Given the description of an element on the screen output the (x, y) to click on. 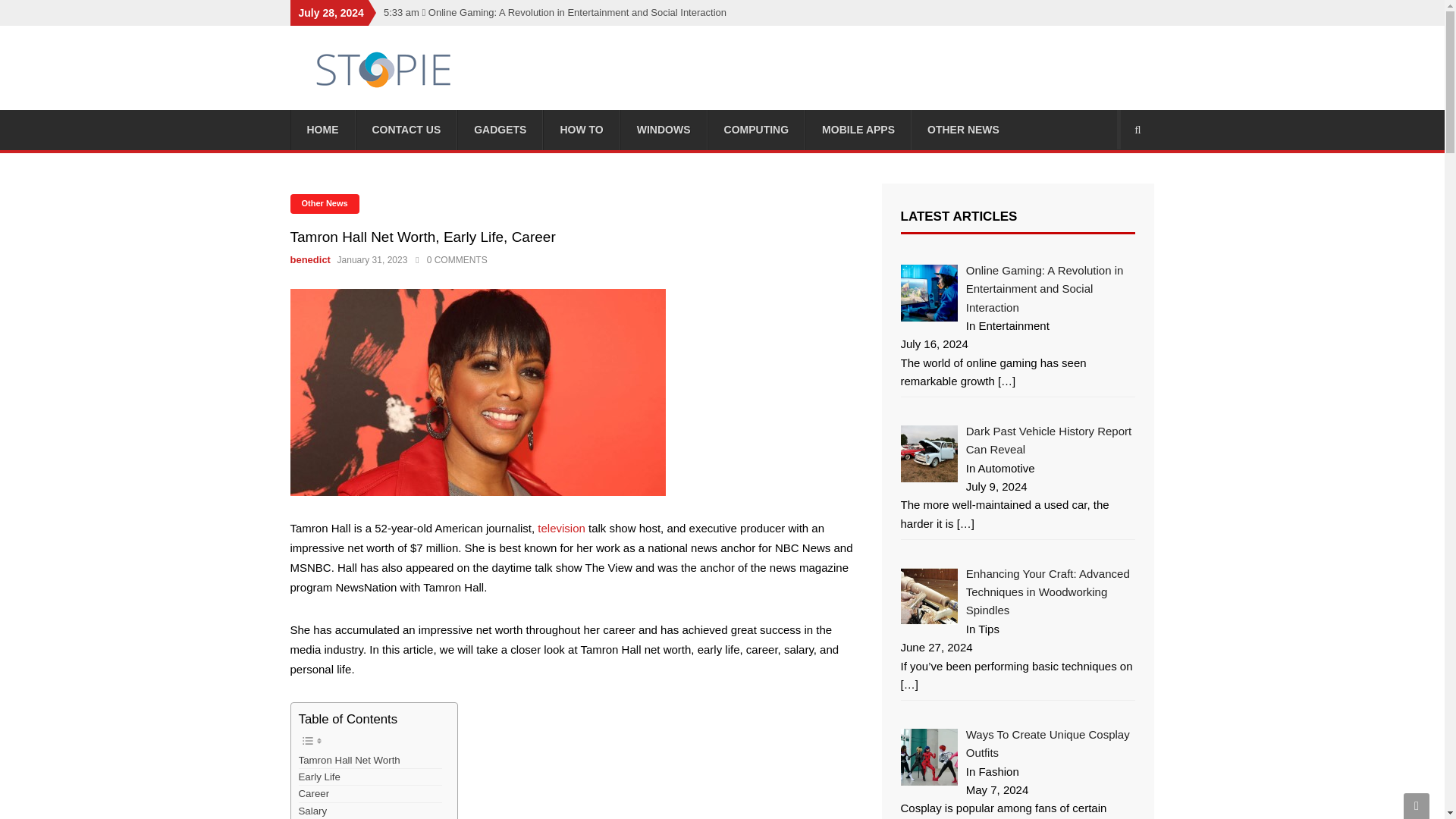
CONTACT US (406, 129)
WINDOWS (663, 129)
HOW TO (581, 129)
Posts by benedict (311, 259)
HOME (322, 129)
Early Life (319, 776)
Career (314, 793)
Tamron Hall Net Worth (349, 760)
Tamron Hall Net Worth (349, 760)
benedict (311, 259)
MOBILE APPS (858, 129)
Other News (323, 203)
Salary (312, 811)
television (559, 527)
OTHER NEWS (962, 129)
